Given the description of an element on the screen output the (x, y) to click on. 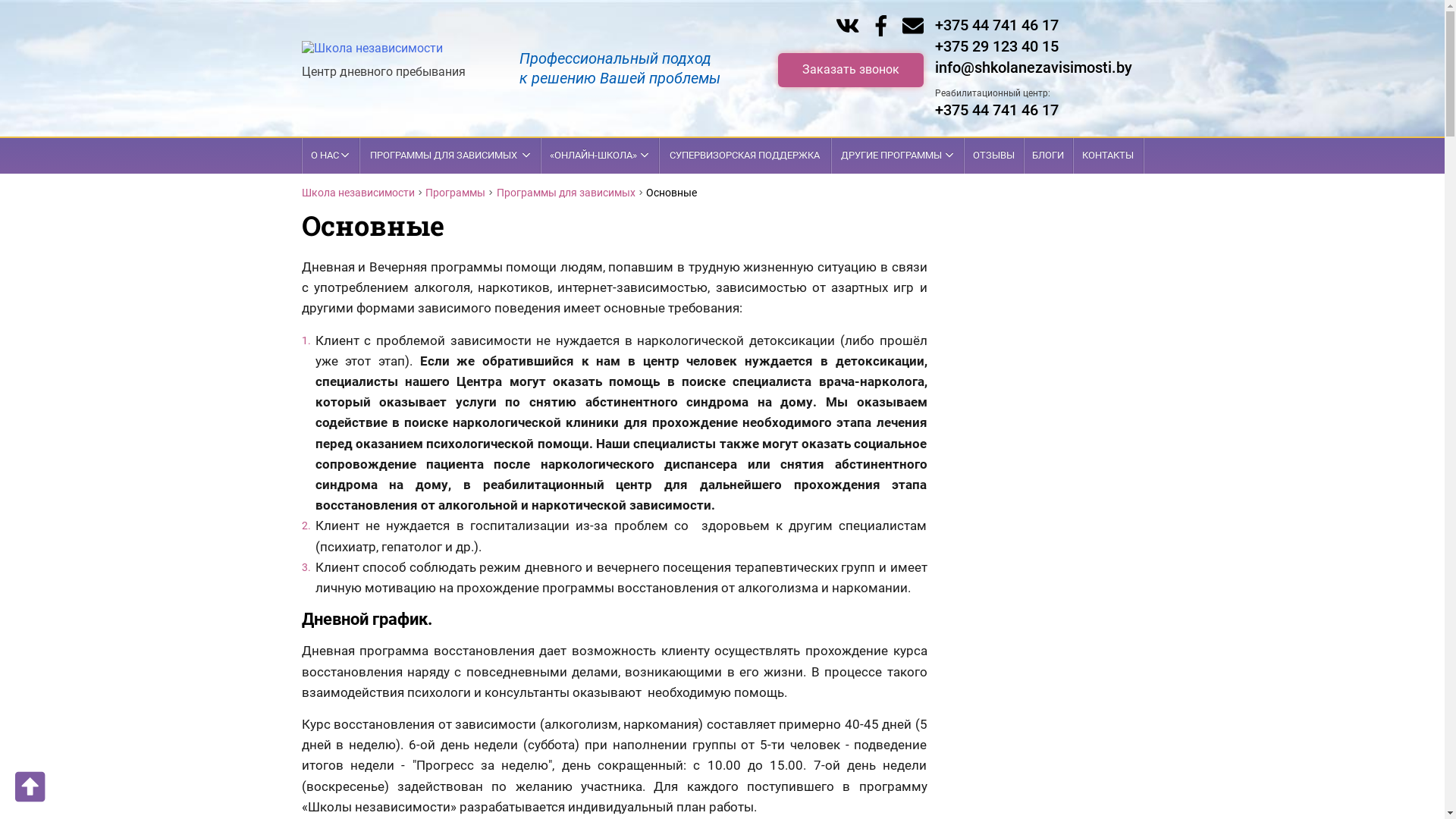
+375 44 741 46 17 Element type: text (995, 24)
+375 29 123 40 15 Element type: text (995, 46)
+375 44 741 46 17 Element type: text (995, 109)
info@shkolanezavisimosti.by Element type: text (1032, 67)
